Given the description of an element on the screen output the (x, y) to click on. 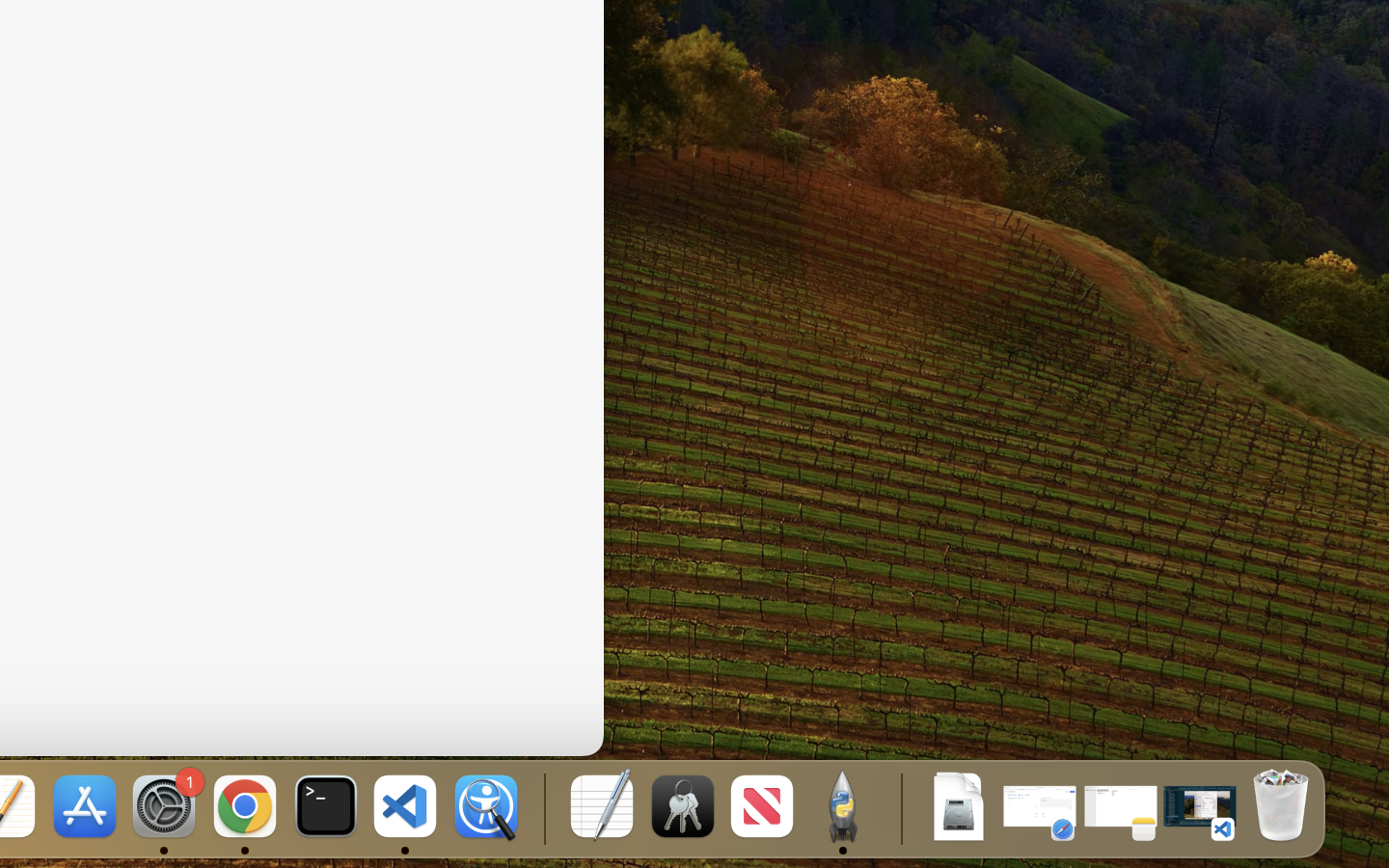
0.4285714328289032 Element type: AXDockItem (541, 807)
